Given the description of an element on the screen output the (x, y) to click on. 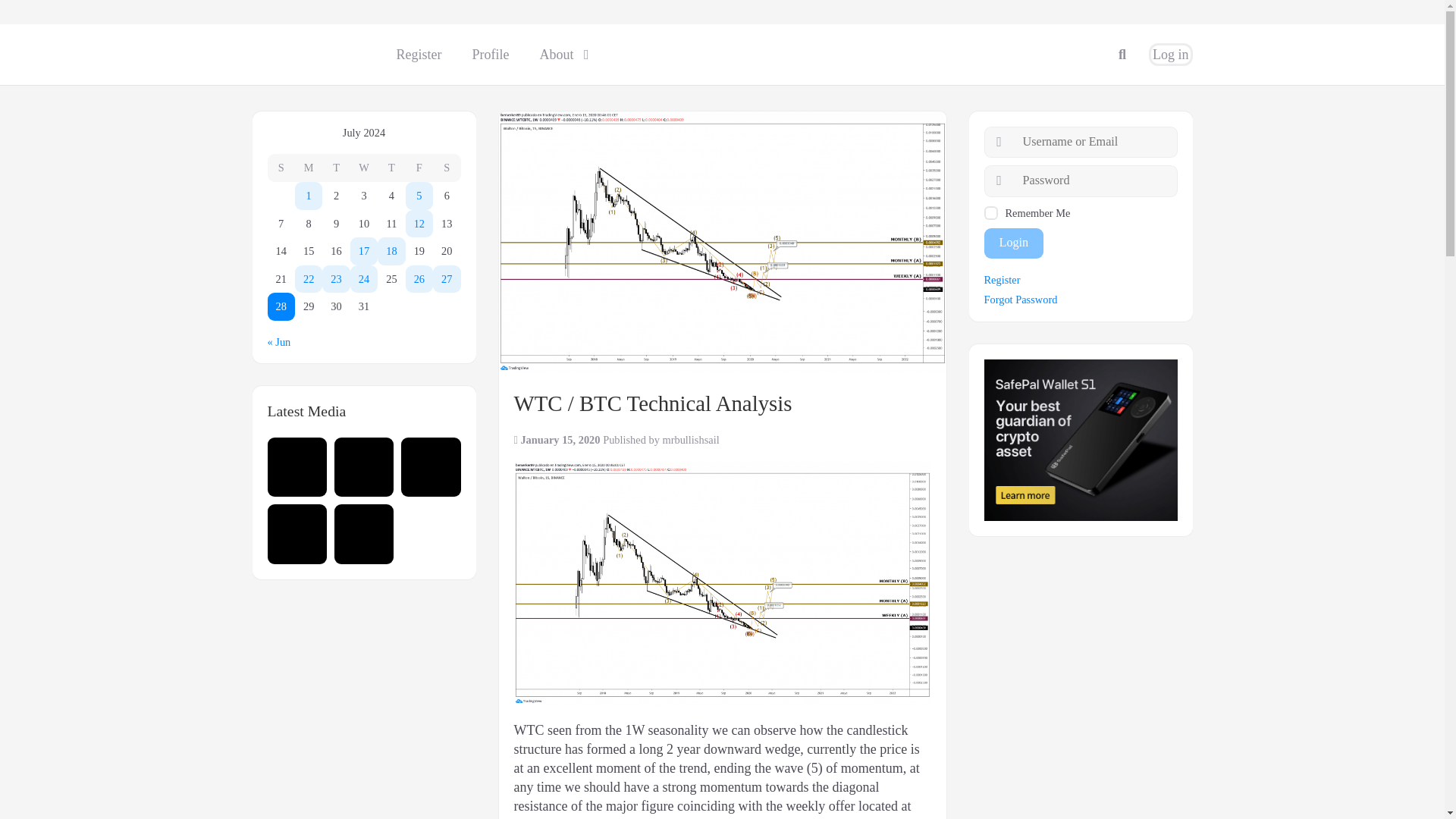
Wednesday (363, 167)
26 (419, 279)
23 (1171, 54)
5 (335, 279)
17 (419, 195)
12 (363, 251)
24 (419, 223)
27 (363, 279)
Register (446, 279)
About (418, 54)
Profile (560, 54)
22 (490, 54)
Monday (308, 279)
